Given the description of an element on the screen output the (x, y) to click on. 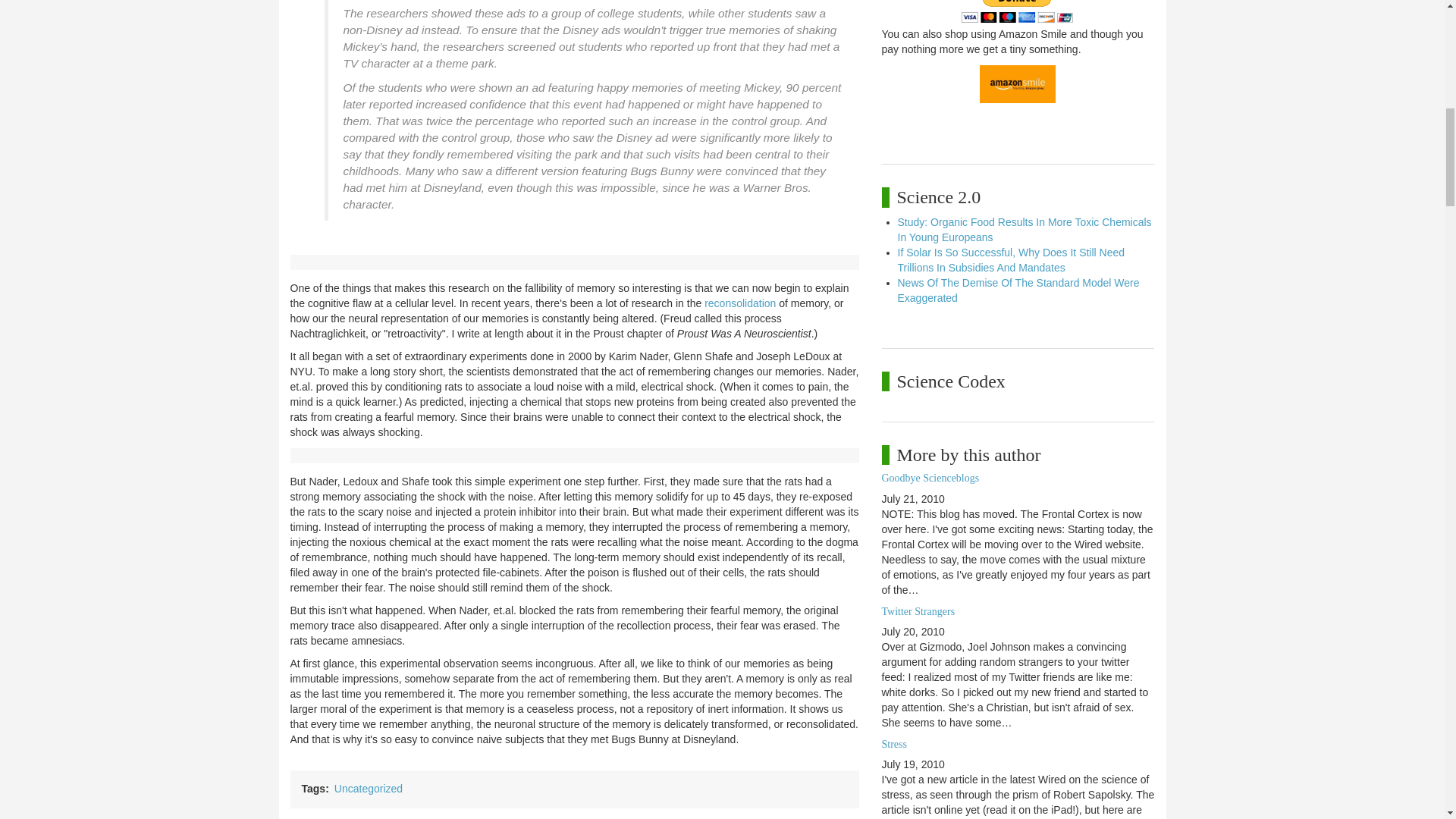
Uncategorized (368, 788)
reconsolidation (740, 303)
PayPal - The safer, easier way to pay online! (1016, 11)
